Given the description of an element on the screen output the (x, y) to click on. 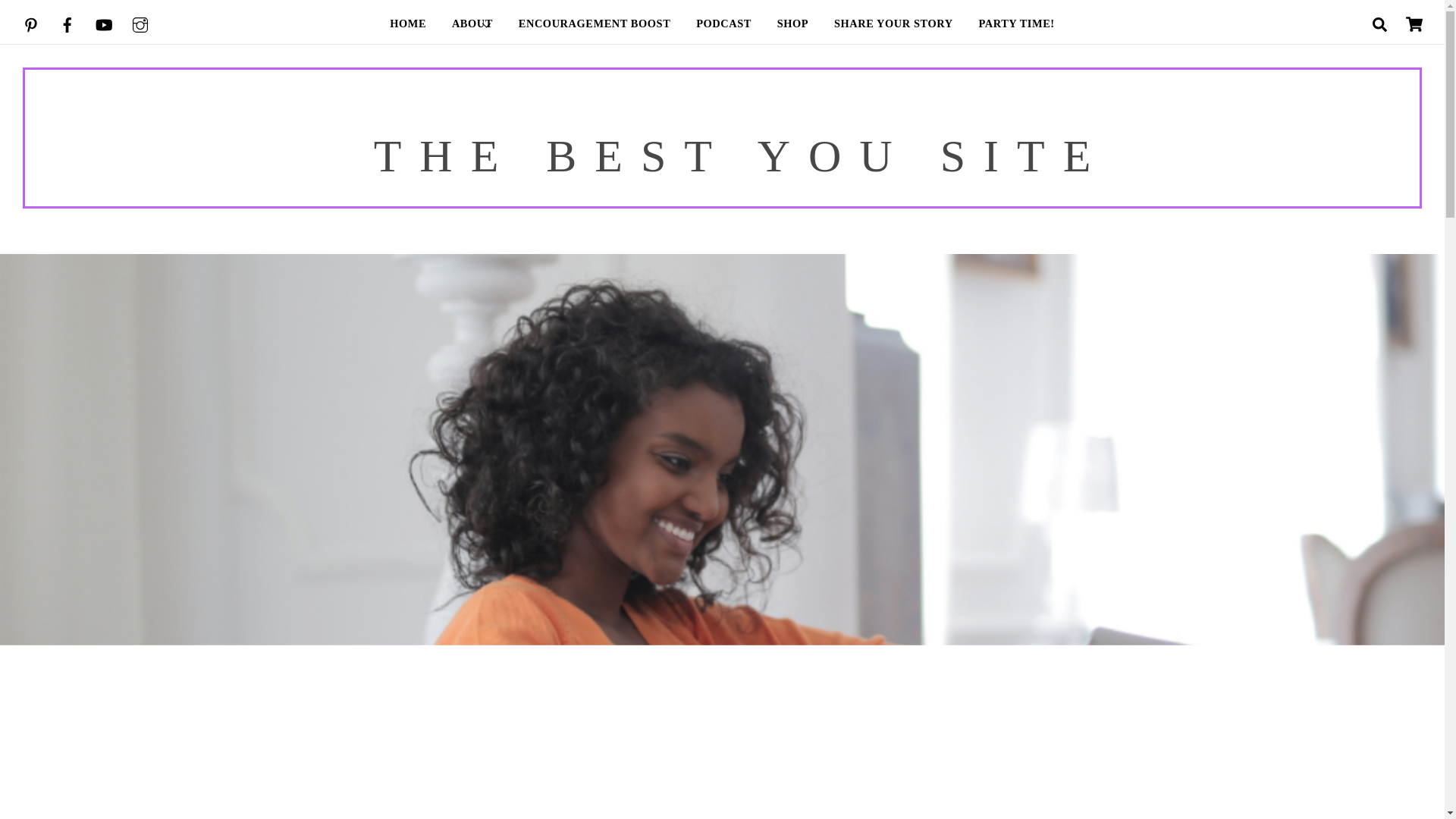
ABOUT (472, 24)
CART (1414, 24)
PODCAST (723, 24)
SHARE YOUR STORY (892, 24)
SEARCH (1379, 23)
SHOP (791, 24)
ENCOURAGEMENT BOOST (593, 24)
THE BEST YOU SITE (741, 155)
HOME (408, 24)
PARTY TIME! (1015, 24)
